Given the description of an element on the screen output the (x, y) to click on. 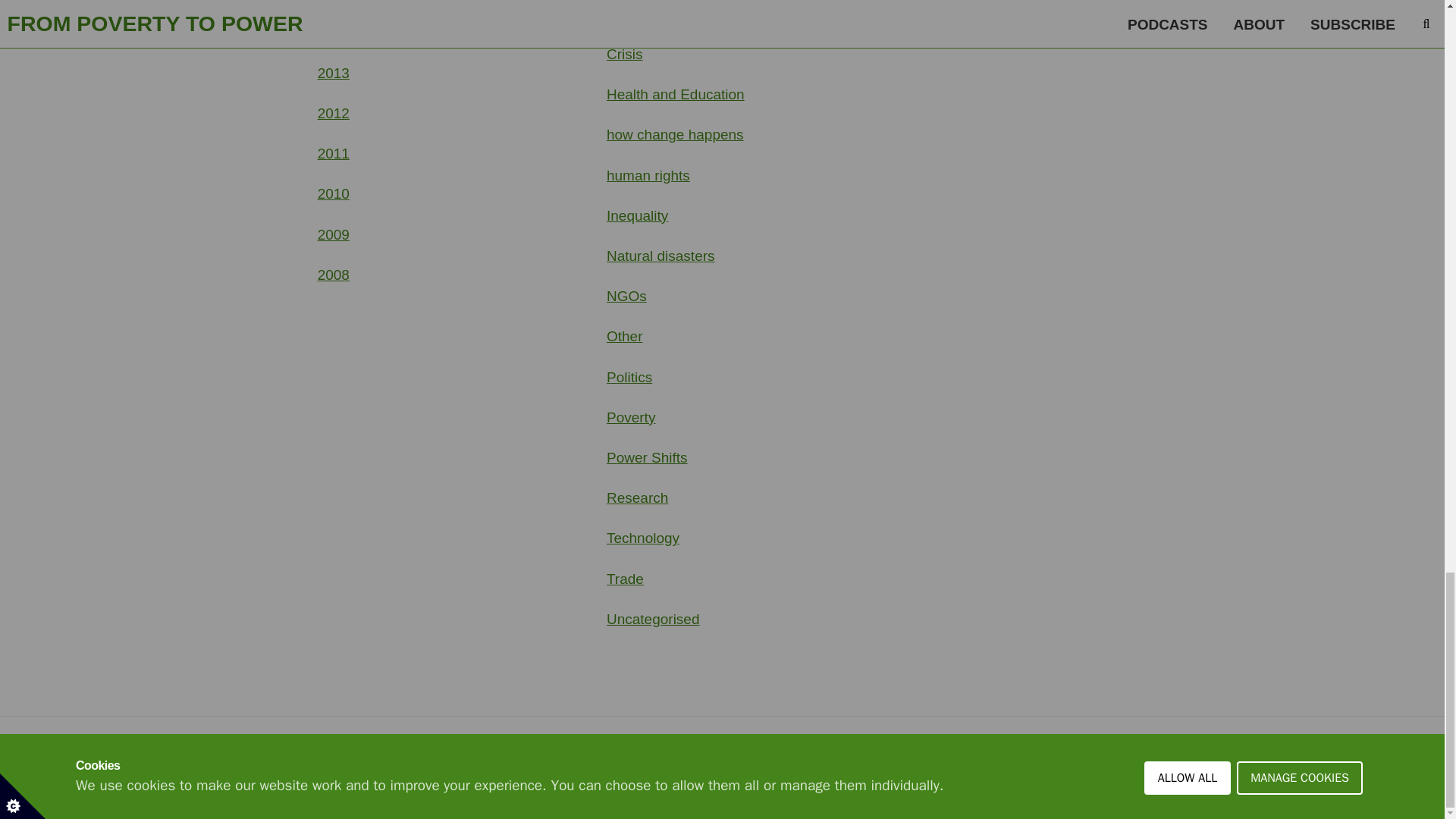
2012 (333, 113)
2010 (333, 193)
2009 (333, 234)
2008 (333, 274)
2014 (333, 32)
2013 (333, 73)
2011 (333, 153)
